Given the description of an element on the screen output the (x, y) to click on. 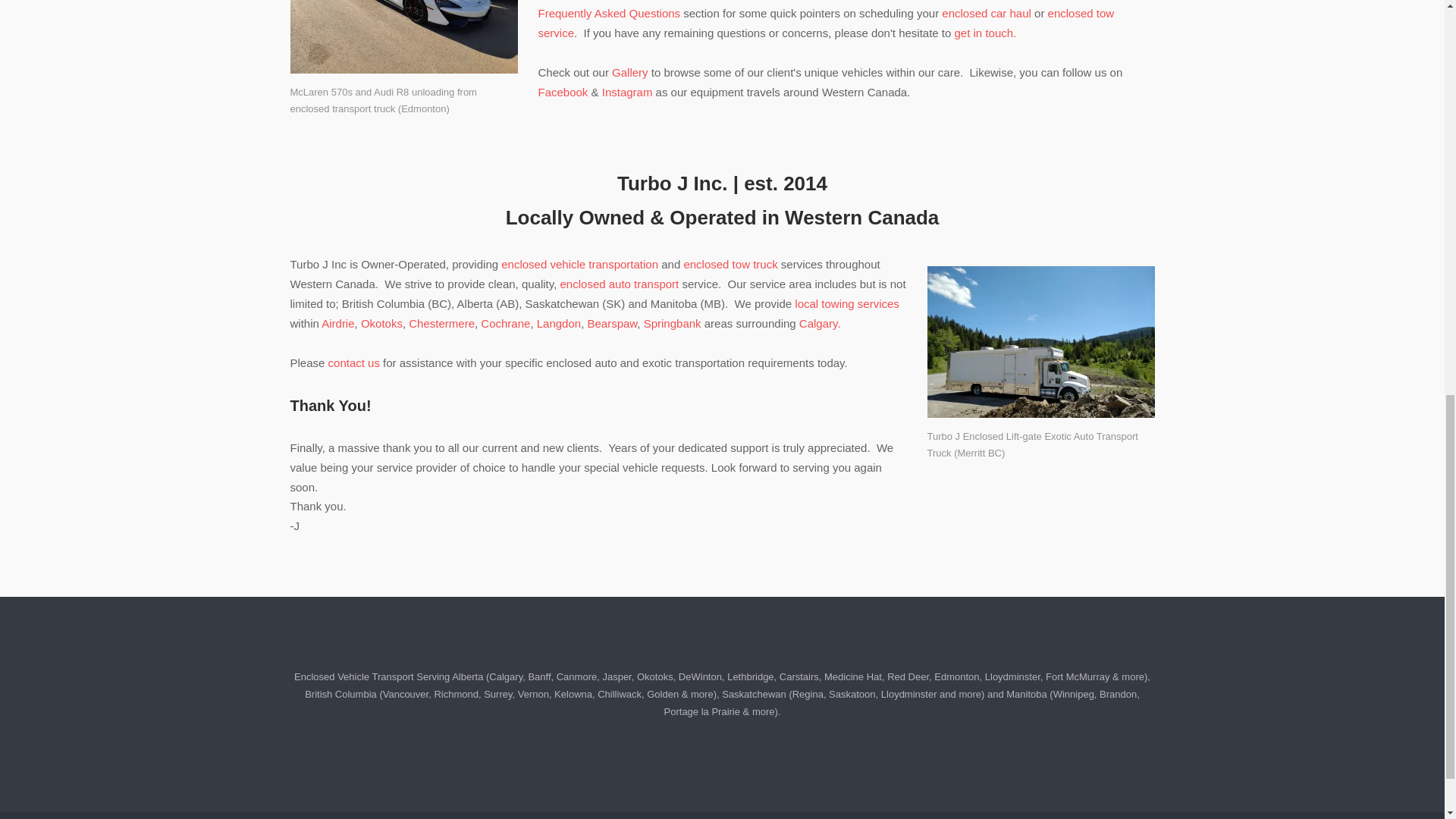
enclosed tow service (826, 22)
Gallery (629, 72)
enclosed car haul (986, 12)
get in touch. (985, 32)
Frequently Asked Questions (609, 12)
Facebook (563, 91)
